Given the description of an element on the screen output the (x, y) to click on. 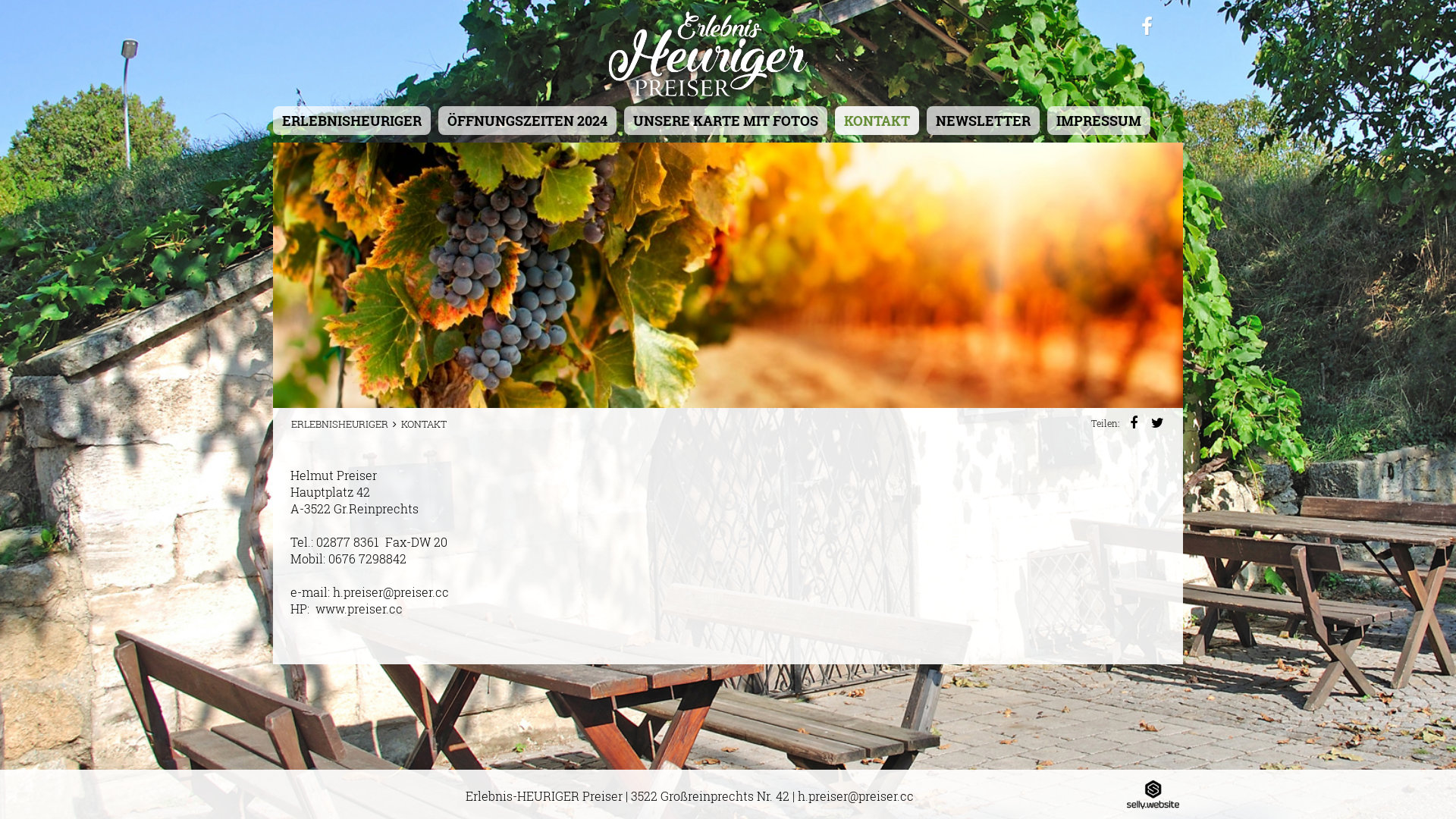
Seite auf Twitter teilen Element type: hover (1154, 423)
Erlebnis-HEURIGER Preiser auf Facebook Element type: hover (1146, 26)
KONTAKT Element type: text (876, 120)
Website by selly Element type: hover (1152, 792)
ERLEBNISHEURIGER Element type: text (339, 423)
KONTAKT Element type: text (423, 423)
Seite auf Facebook teilen Element type: hover (1130, 423)
ERLEBNISHEURIGER Element type: text (351, 120)
h.preiser@preiser.cc Element type: text (855, 795)
IMPRESSUM Element type: text (1098, 120)
NEWSLETTER Element type: text (982, 120)
UNSERE KARTE MIT FOTOS Element type: text (725, 120)
